Given the description of an element on the screen output the (x, y) to click on. 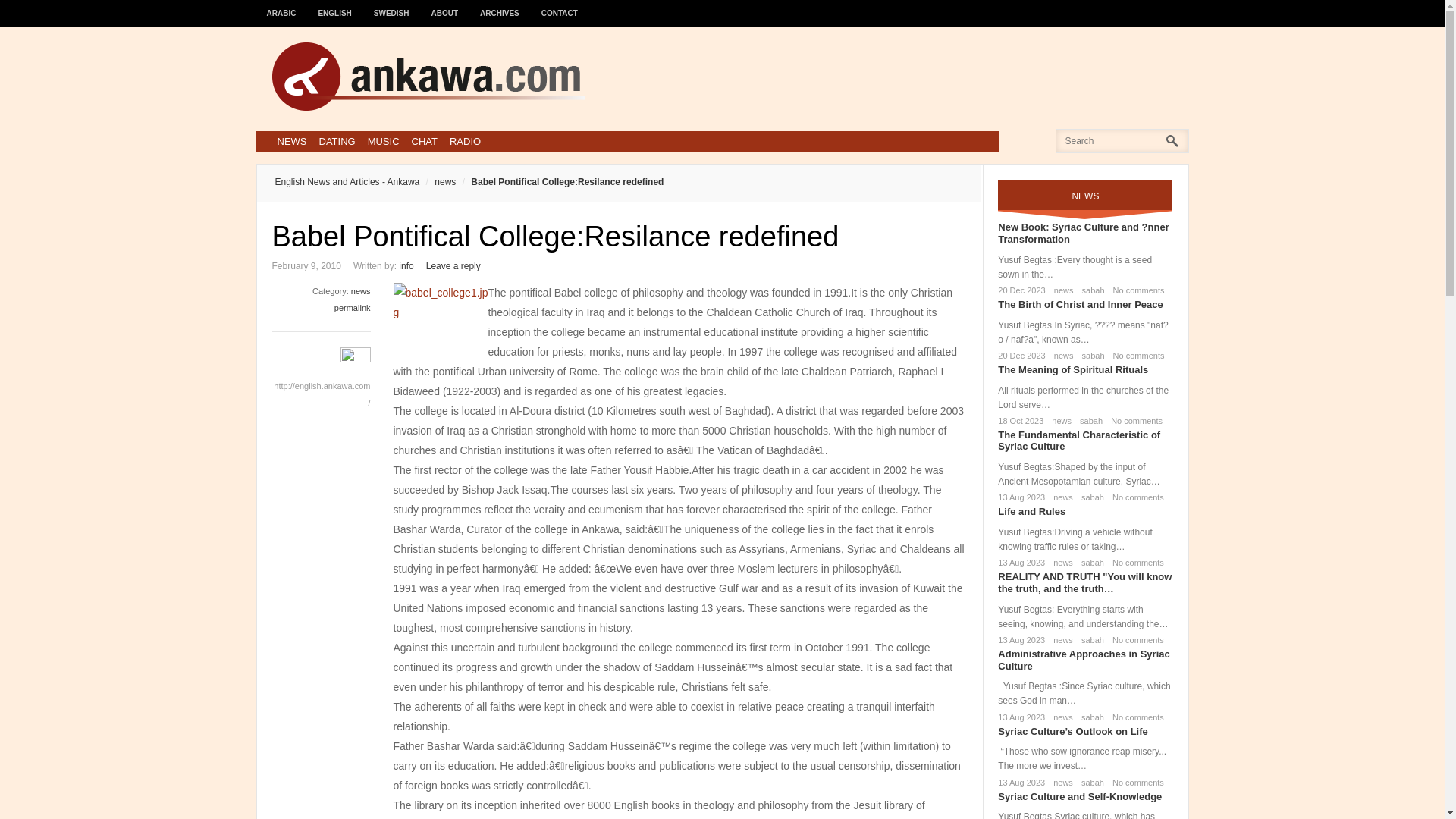
English News and Articles - Ankawa (347, 181)
The Fundamental Characteristic of Syriac Culture (1078, 440)
MUSIC (383, 141)
New Book: Syriac Culture and ?nner Transformation (1083, 232)
Administrative Approaches in Syriac Culture (1083, 659)
Life and Rules (1031, 511)
news (1058, 420)
No comments (1134, 497)
DATING (337, 141)
SWEDISH (391, 5)
